Given the description of an element on the screen output the (x, y) to click on. 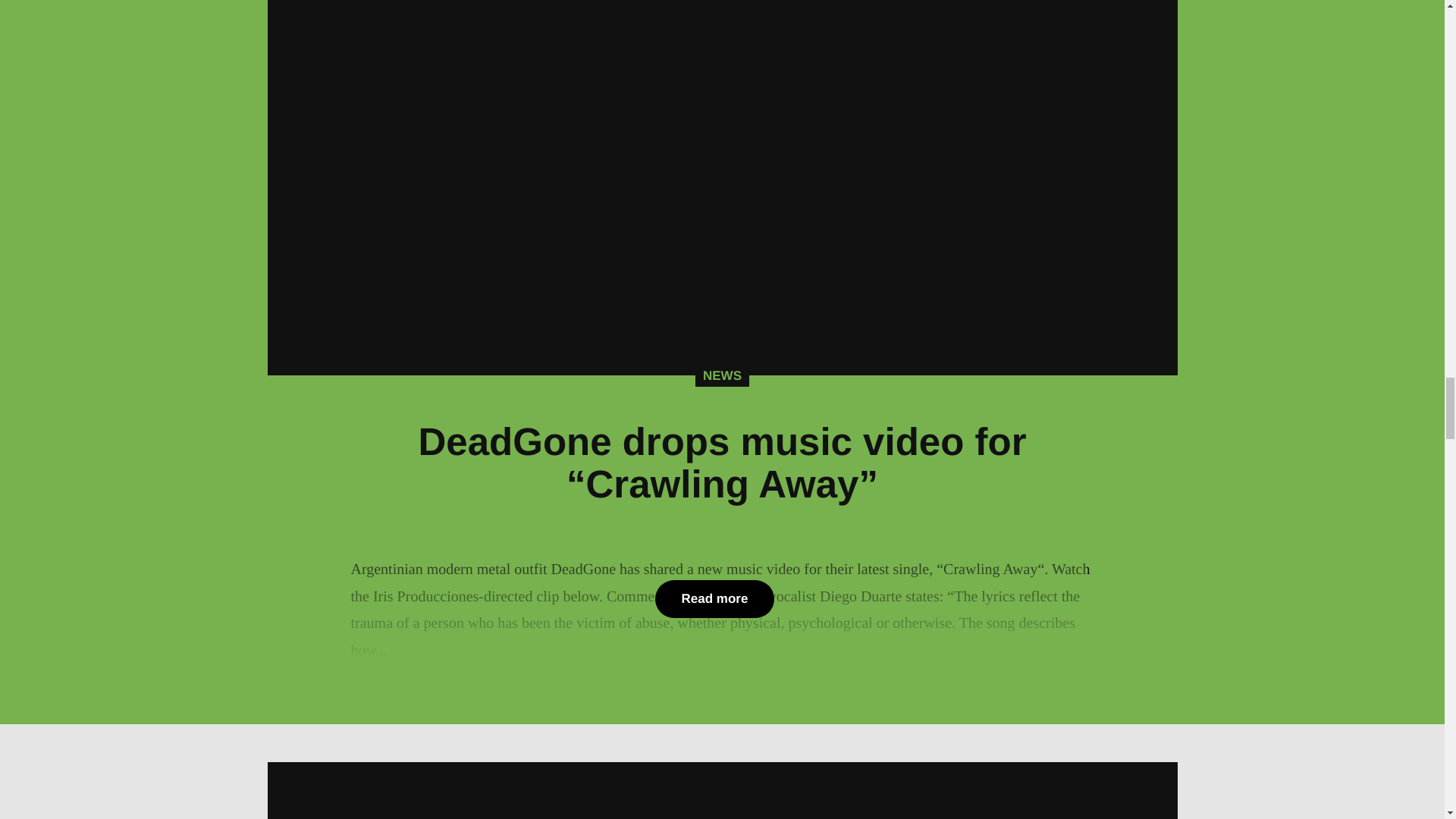
NEWS (722, 375)
